Given the description of an element on the screen output the (x, y) to click on. 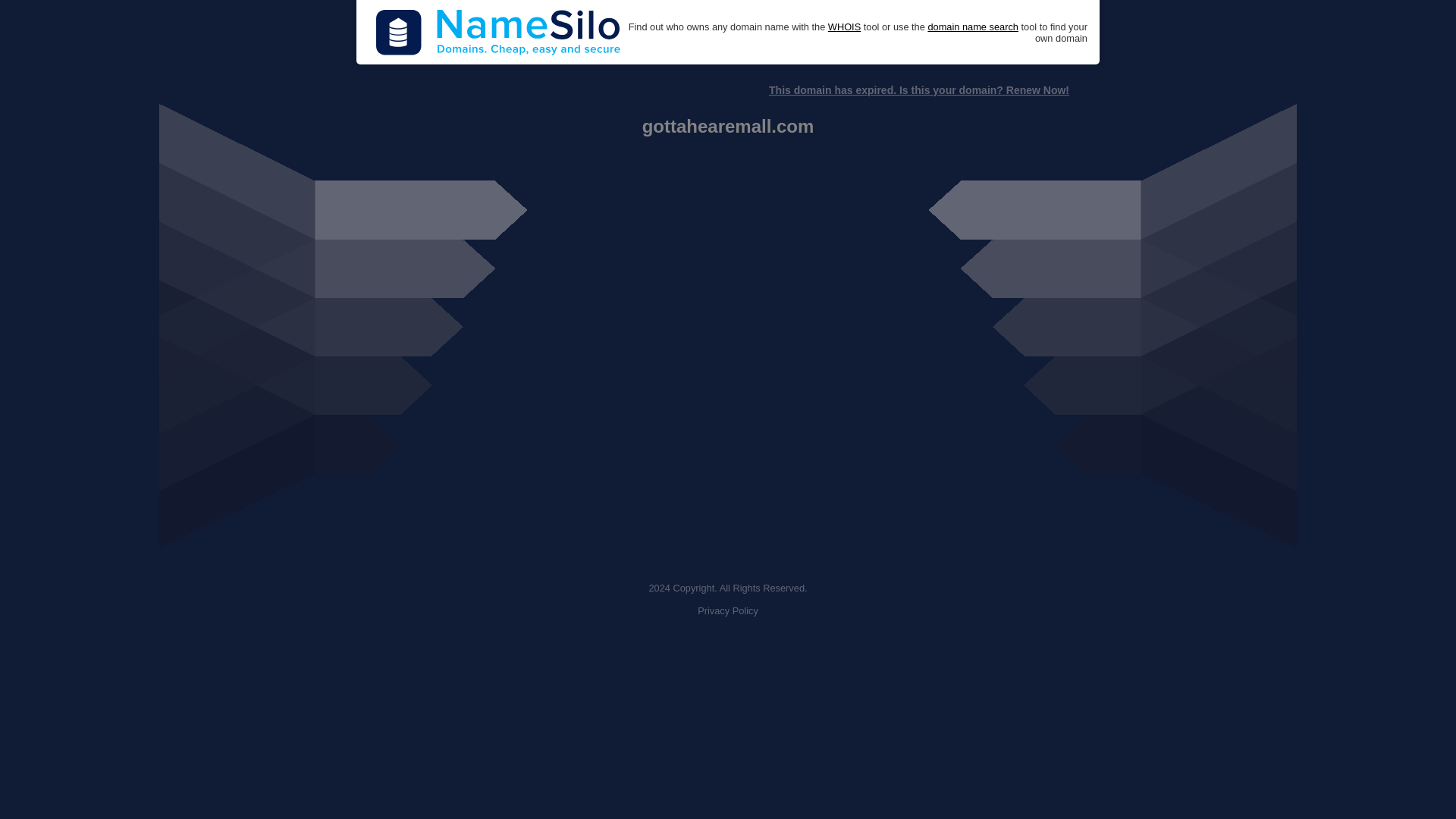
This domain has expired. Is this your domain? Renew Now! (918, 90)
WHOIS (844, 26)
domain name search (972, 26)
Privacy Policy (727, 610)
